Given the description of an element on the screen output the (x, y) to click on. 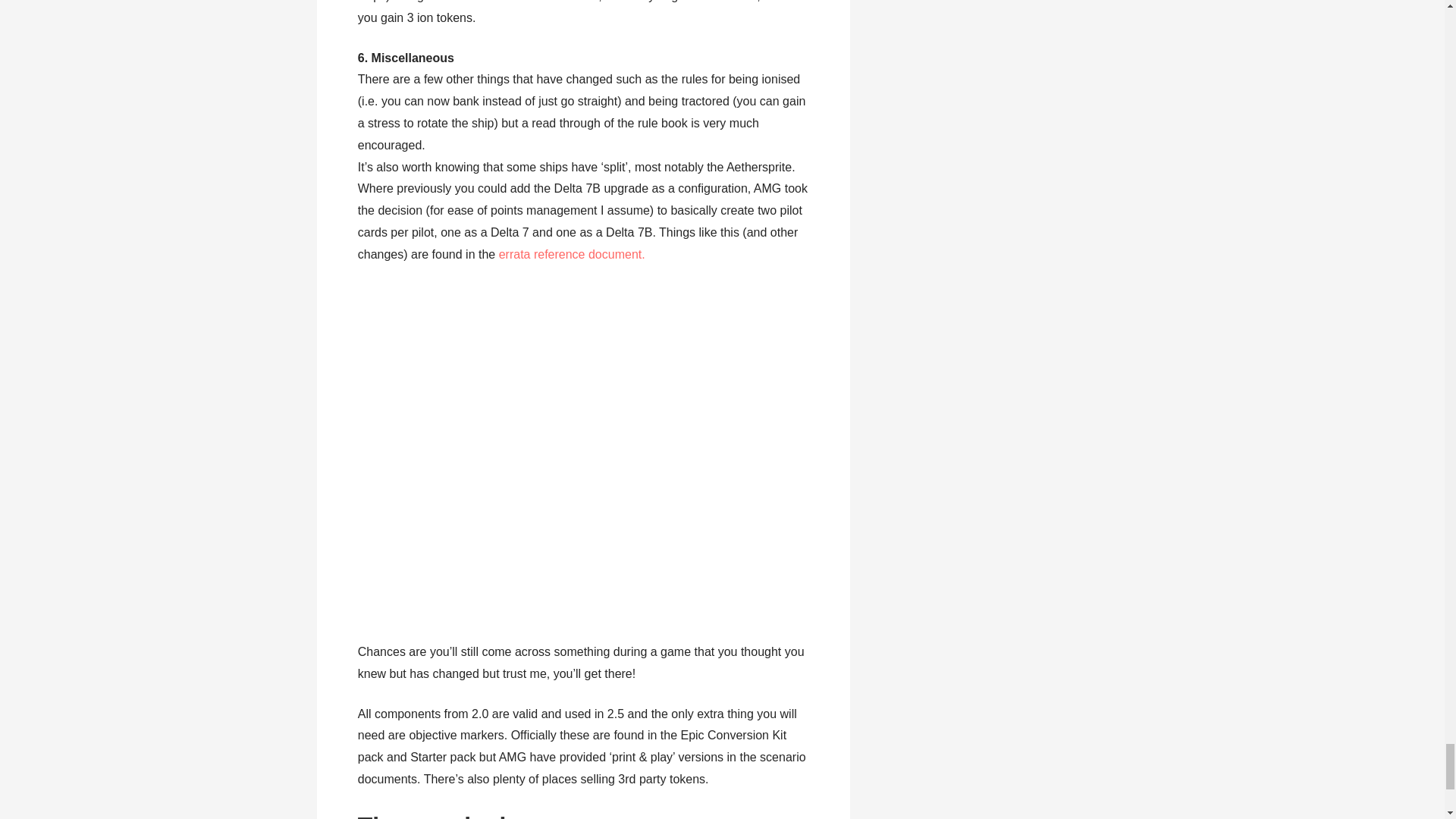
errata reference document. (570, 254)
